Given the description of an element on the screen output the (x, y) to click on. 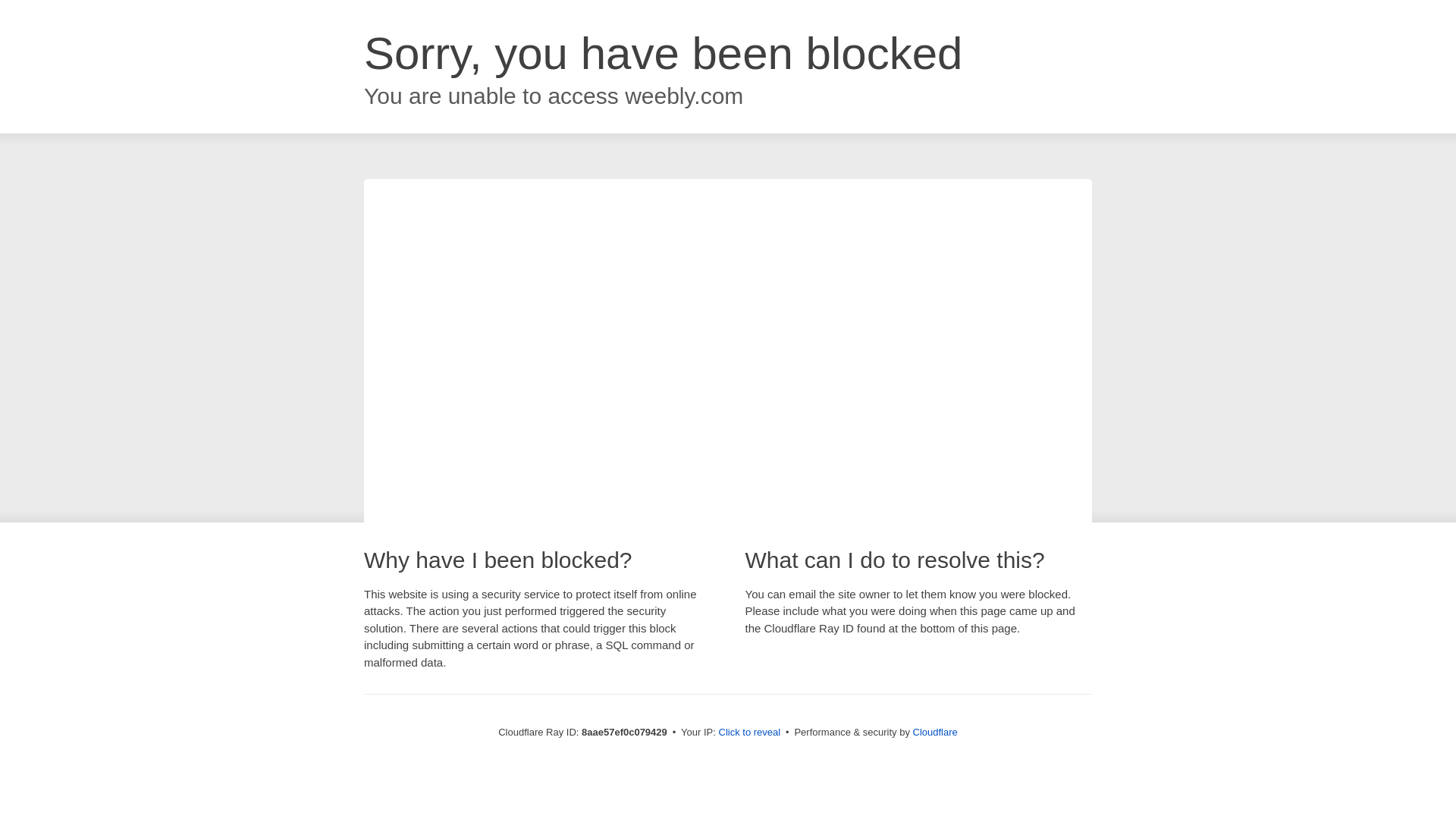
Click to reveal (749, 732)
Cloudflare (935, 731)
